Given the description of an element on the screen output the (x, y) to click on. 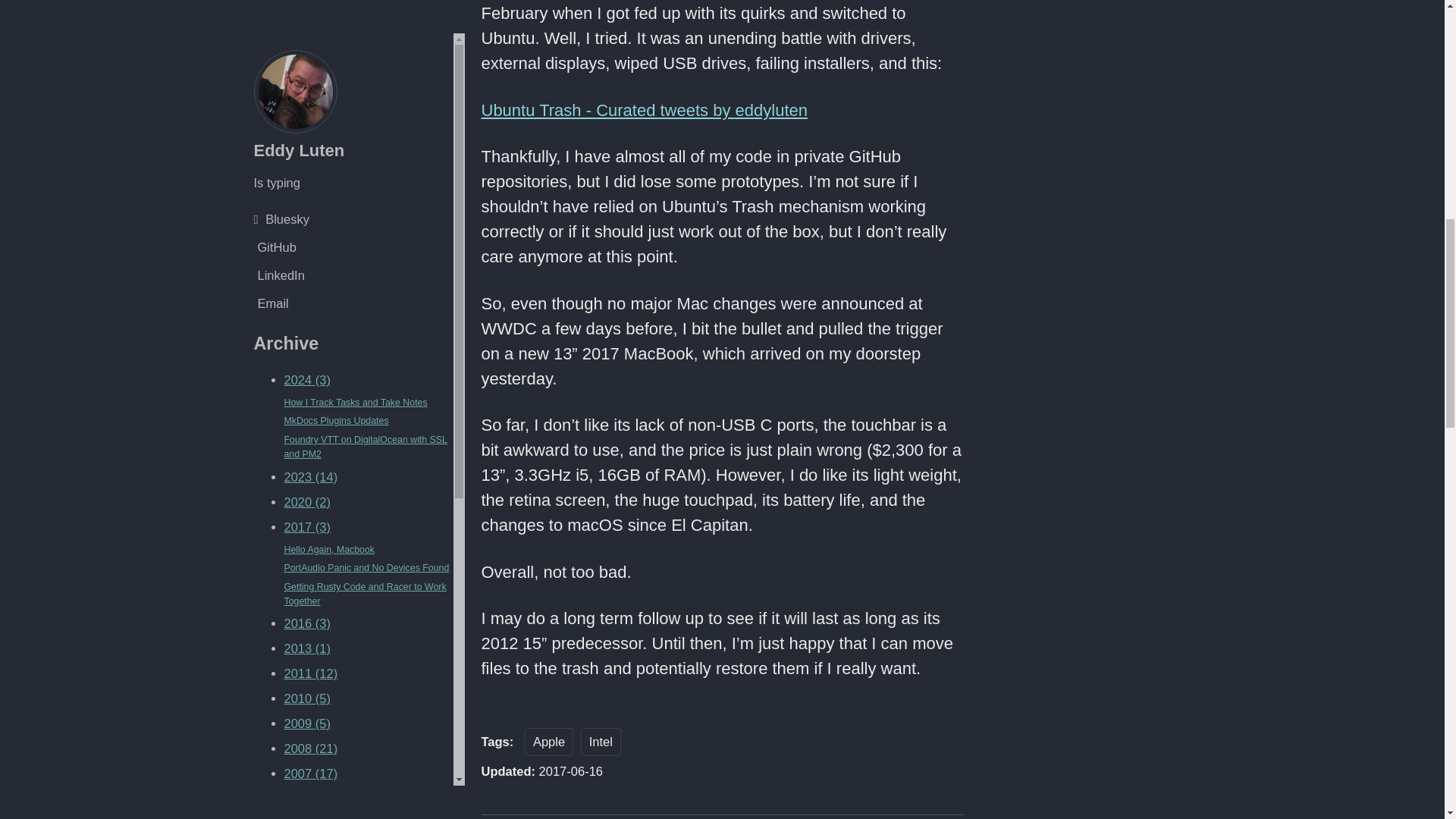
MkDocs (380, 141)
Whatever (300, 141)
AI (324, 166)
Visual Basic (285, 166)
